Given the description of an element on the screen output the (x, y) to click on. 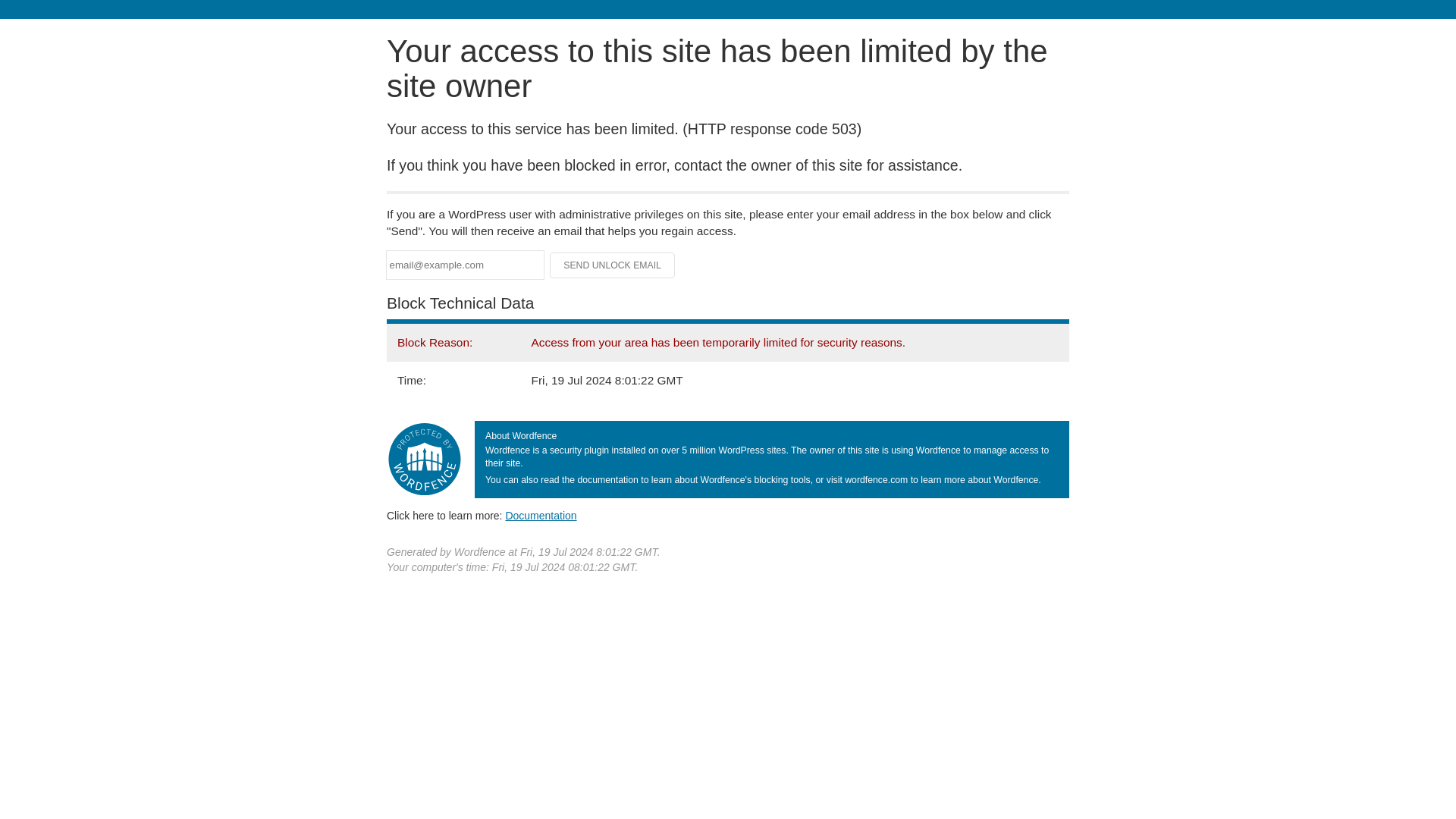
Documentation (540, 515)
Send Unlock Email (612, 265)
Send Unlock Email (612, 265)
